Given the description of an element on the screen output the (x, y) to click on. 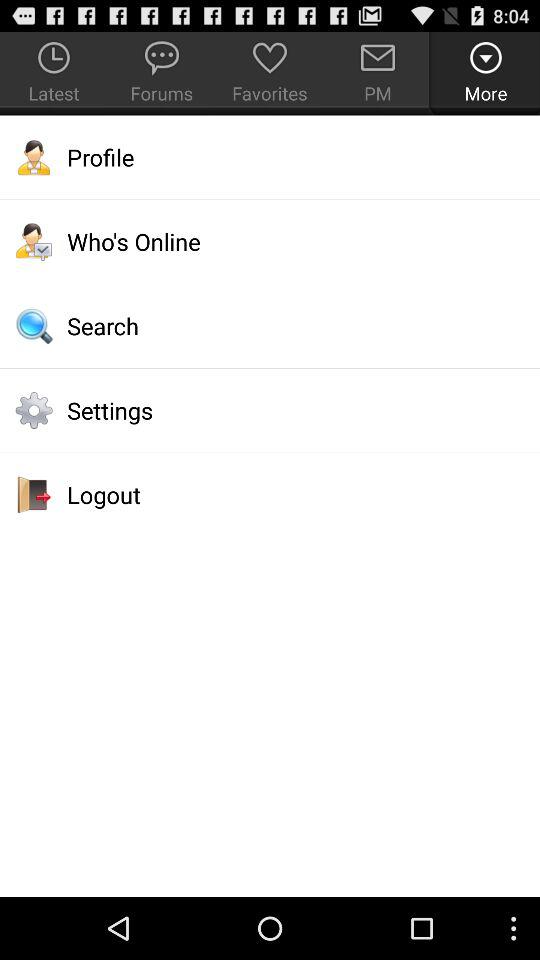
turn on the   search icon (270, 326)
